Given the description of an element on the screen output the (x, y) to click on. 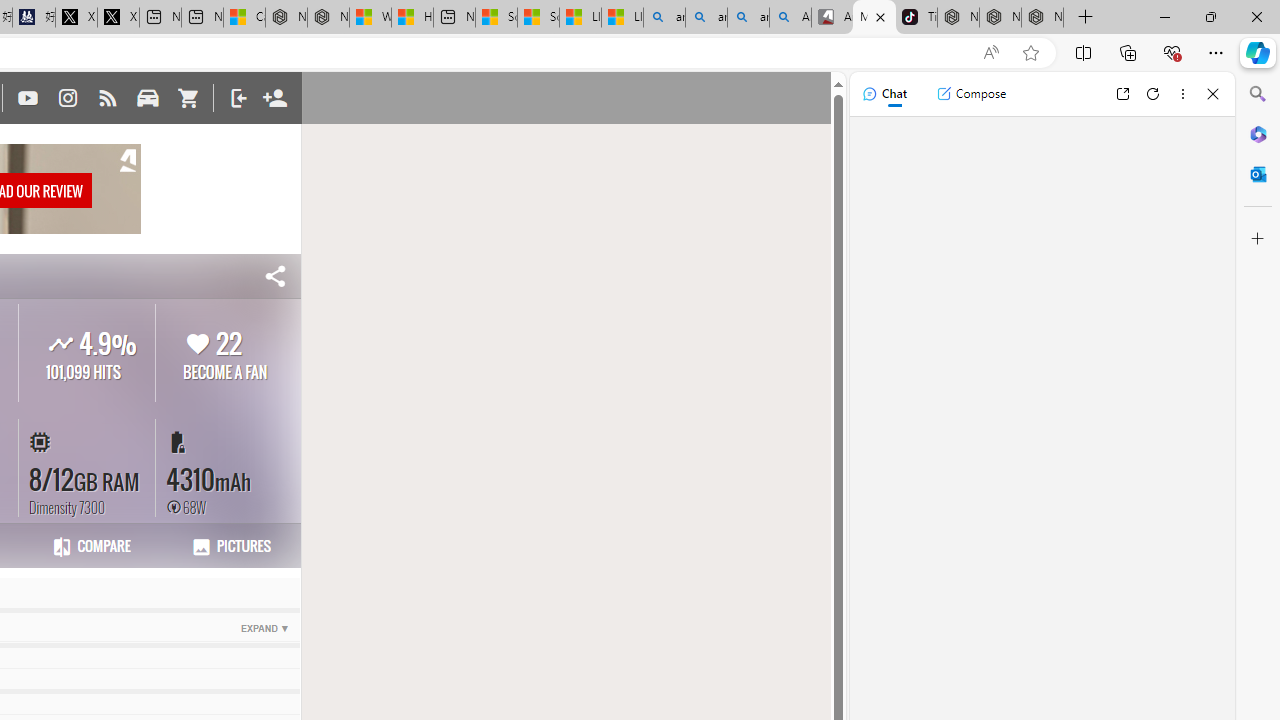
X (118, 17)
Amazon Echo Robot - Search Images (790, 17)
More options (1182, 93)
Motorola Edge 50 Neo - Full phone specifications (873, 17)
